Given the description of an element on the screen output the (x, y) to click on. 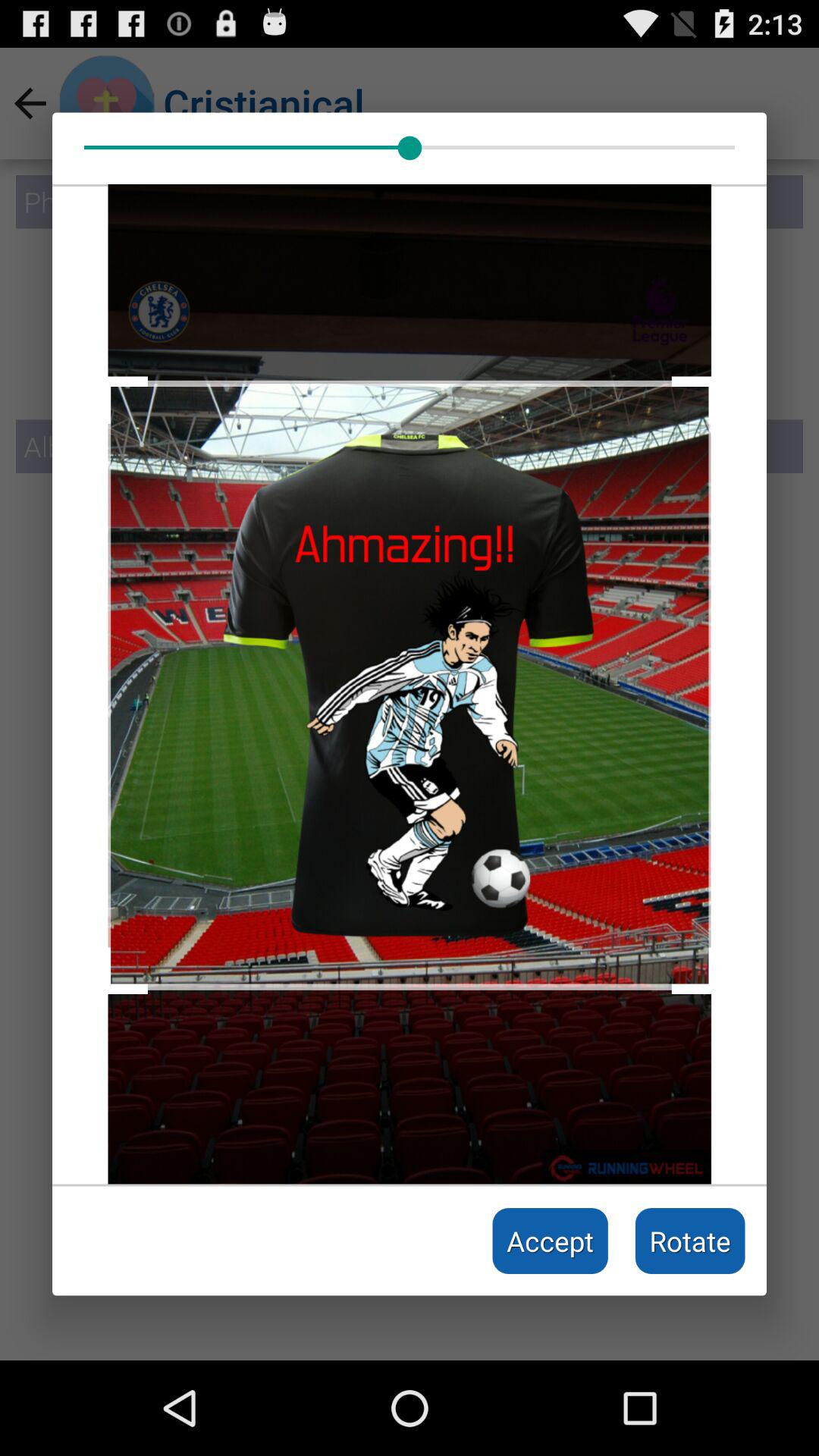
click the rotate icon (689, 1240)
